Given the description of an element on the screen output the (x, y) to click on. 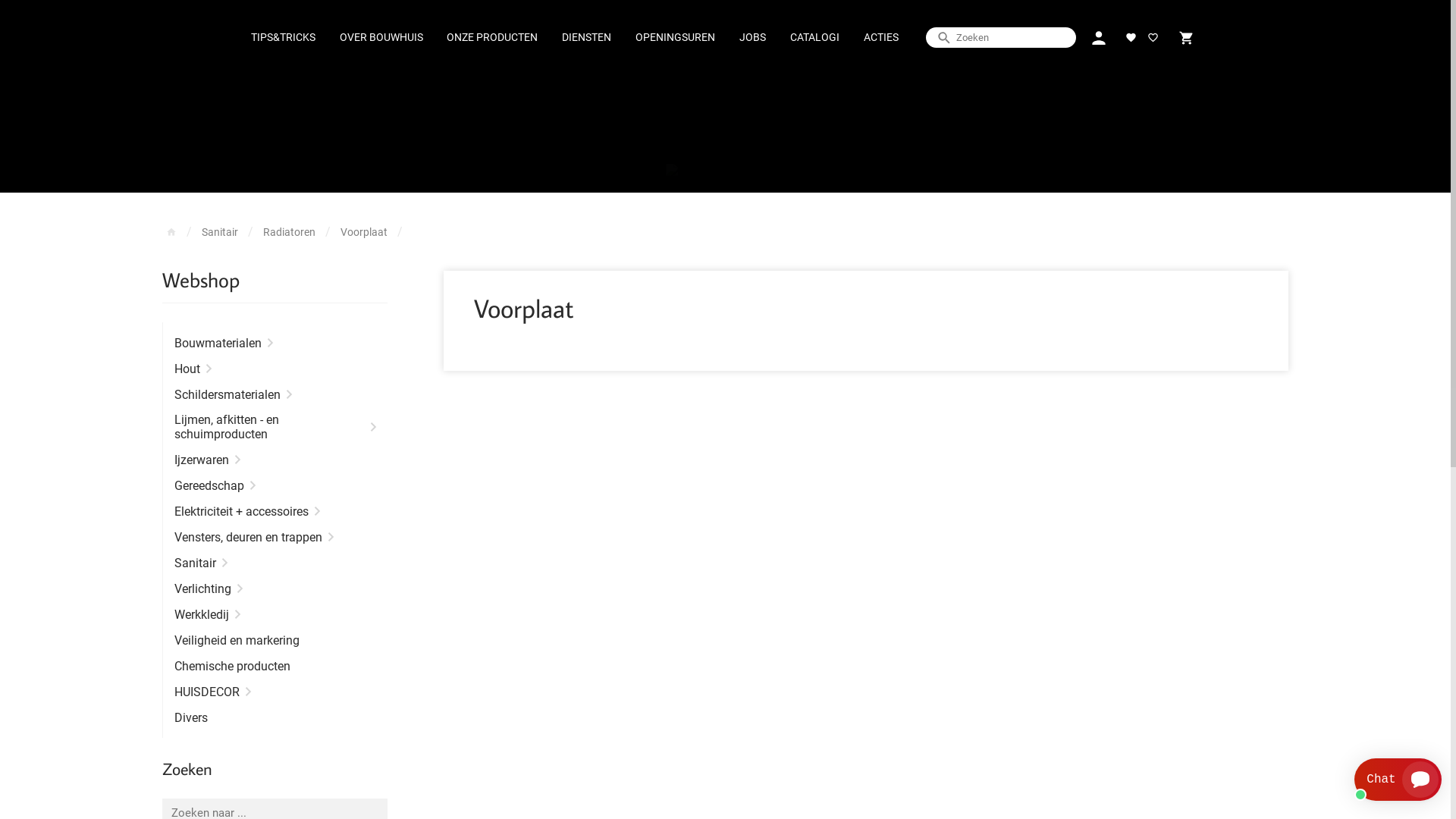
Vensters, deuren en trappen
keyboard_arrow_down Element type: text (274, 536)
Lijmen, afkitten - en schuimproducten
keyboard_arrow_down Element type: text (274, 426)
HUISDECOR
keyboard_arrow_down Element type: text (274, 691)
home Element type: text (171, 231)
favorite favorite_border Element type: text (1141, 37)
Radiatoren Element type: text (289, 231)
TIPS&TRICKS Element type: text (283, 37)
ACTIES Element type: text (880, 37)
Hout
keyboard_arrow_down Element type: text (274, 368)
CATALOGI Element type: text (814, 37)
Gereedschap
keyboard_arrow_down Element type: text (274, 485)
Winkelmand Element type: hover (1185, 37)
Schildersmaterialen
keyboard_arrow_down Element type: text (274, 394)
Sanitair Element type: text (219, 231)
Chemische producten Element type: text (274, 665)
Ijzerwaren
keyboard_arrow_down Element type: text (274, 459)
JOBS Element type: text (752, 37)
OPENINGSUREN Element type: text (674, 37)
Bouwhuis Mechelen Element type: hover (725, 170)
OVER BOUWHUIS Element type: text (381, 37)
Voorplaat Element type: text (363, 231)
Werkkledij
keyboard_arrow_down Element type: text (274, 614)
Smartsupp widget button Element type: hover (1397, 779)
Divers Element type: text (274, 717)
Sanitair
keyboard_arrow_down Element type: text (274, 562)
Bouwmaterialen
keyboard_arrow_down Element type: text (274, 342)
Veiligheid en markering Element type: text (274, 639)
Verlichting
keyboard_arrow_down Element type: text (274, 588)
Elektriciteit + accessoires
keyboard_arrow_down Element type: text (274, 511)
Account Element type: hover (1098, 37)
